Given the description of an element on the screen output the (x, y) to click on. 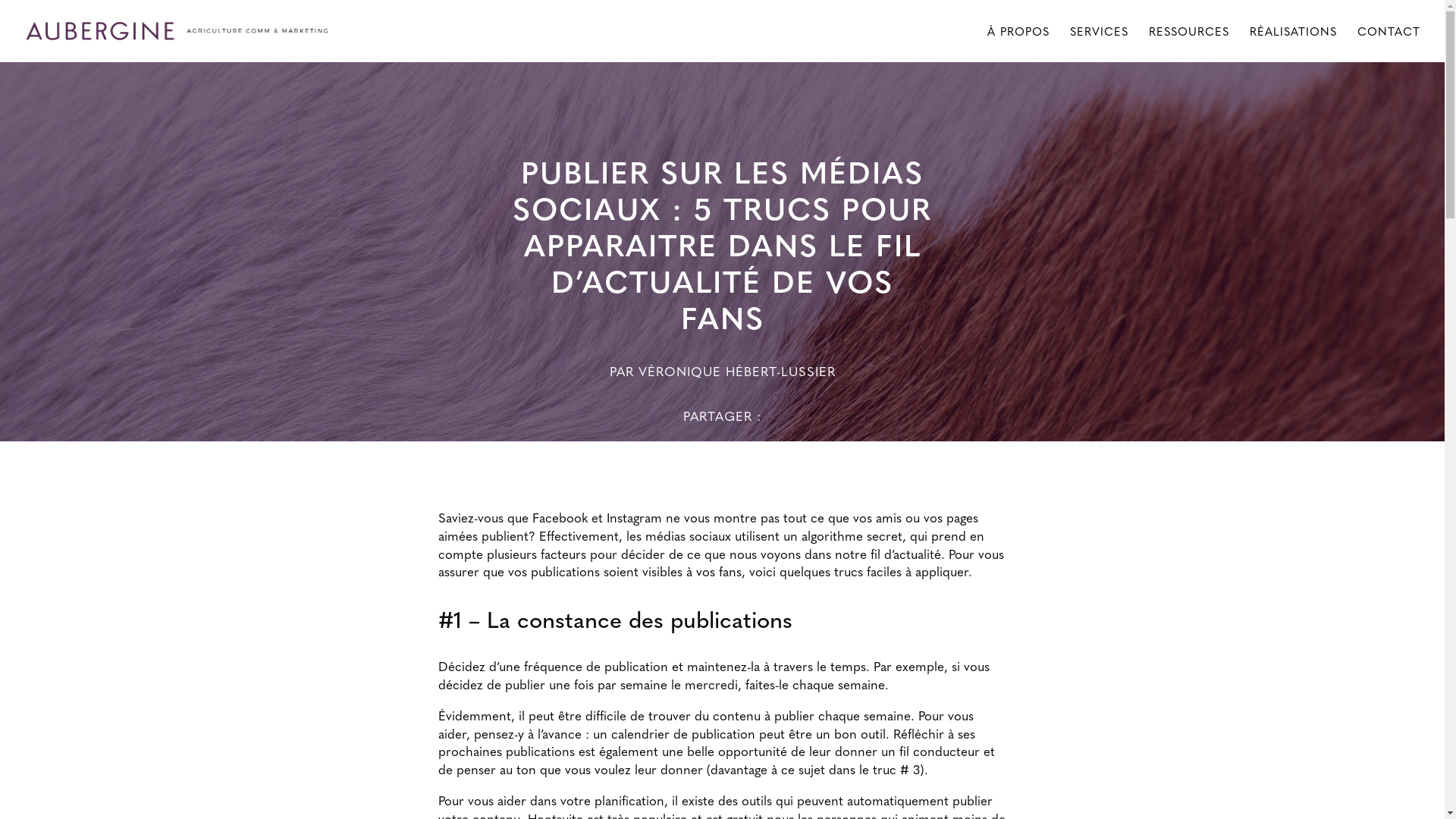
SERVICES Element type: text (1099, 43)
RESSOURCES Element type: text (1188, 43)
CONTACT Element type: text (1388, 43)
